Given the description of an element on the screen output the (x, y) to click on. 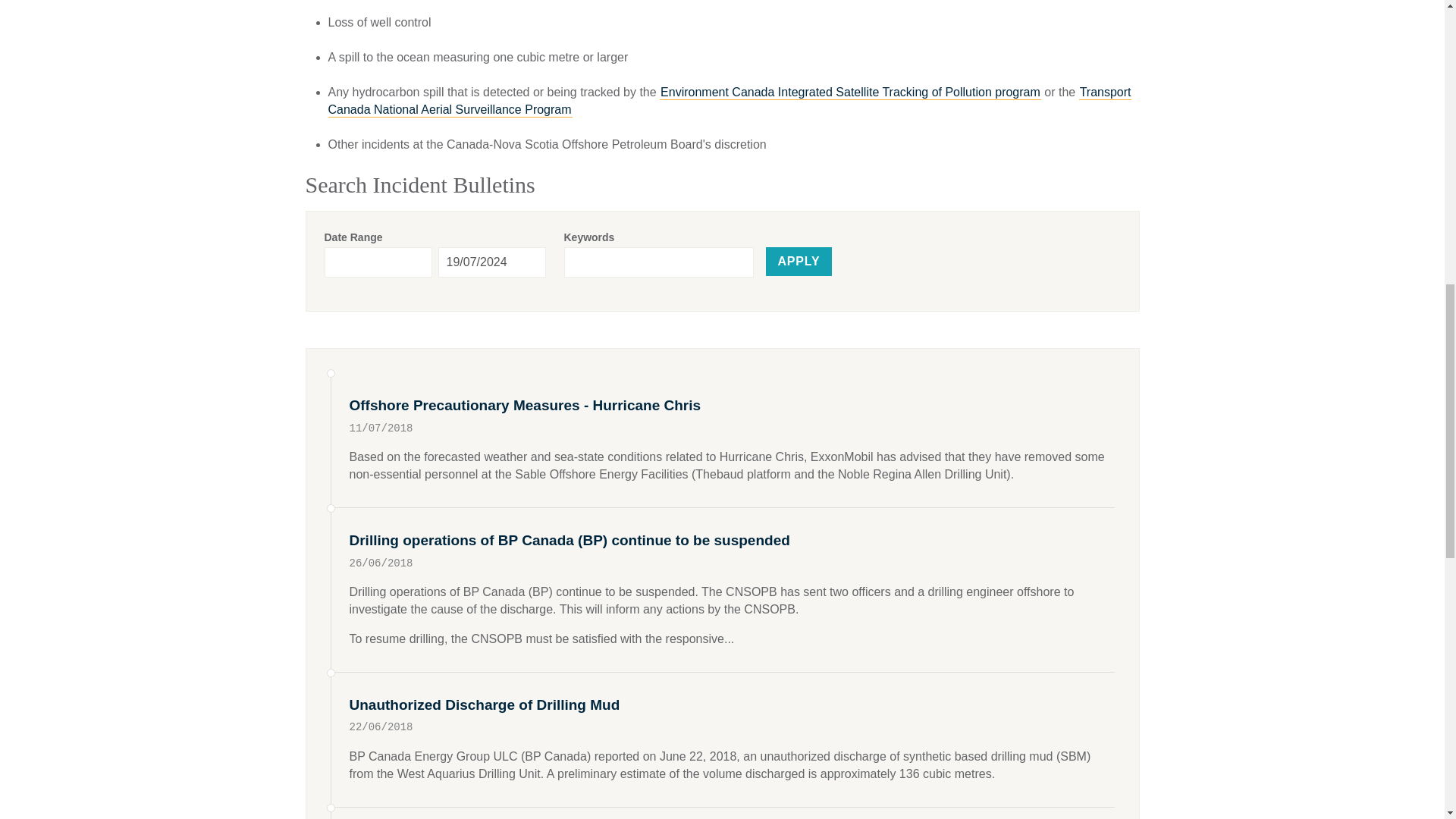
Apply (798, 261)
